Given the description of an element on the screen output the (x, y) to click on. 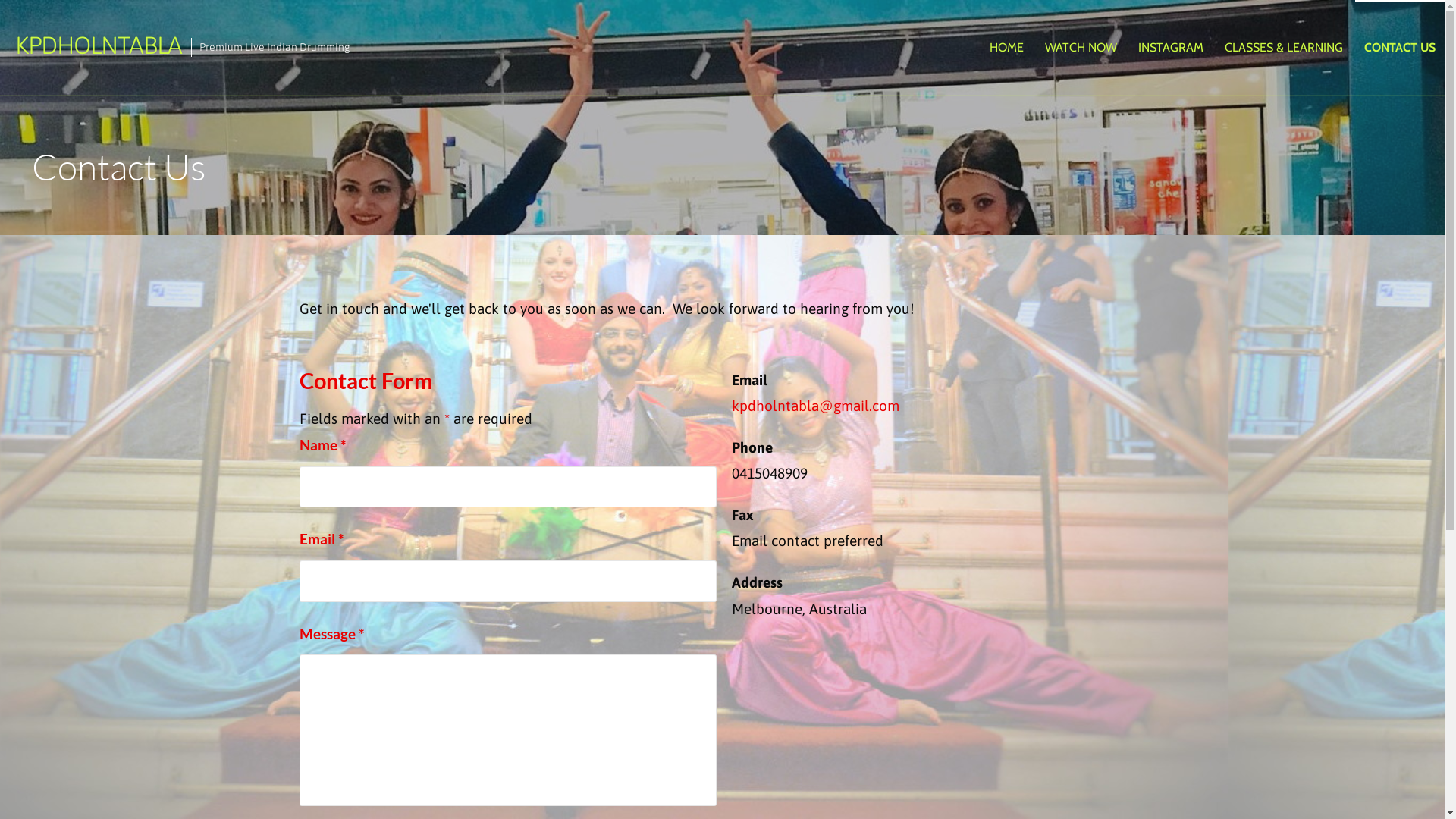
CONTACT US Element type: text (1399, 47)
Skip to content Element type: text (0, 0)
kpdholntabla@gmail.com Element type: text (815, 405)
HOME Element type: text (1006, 47)
WATCH NOW Element type: text (1080, 47)
KPDHOLNTABLA Element type: text (98, 45)
INSTAGRAM Element type: text (1170, 47)
CLASSES & LEARNING Element type: text (1283, 47)
